Given the description of an element on the screen output the (x, y) to click on. 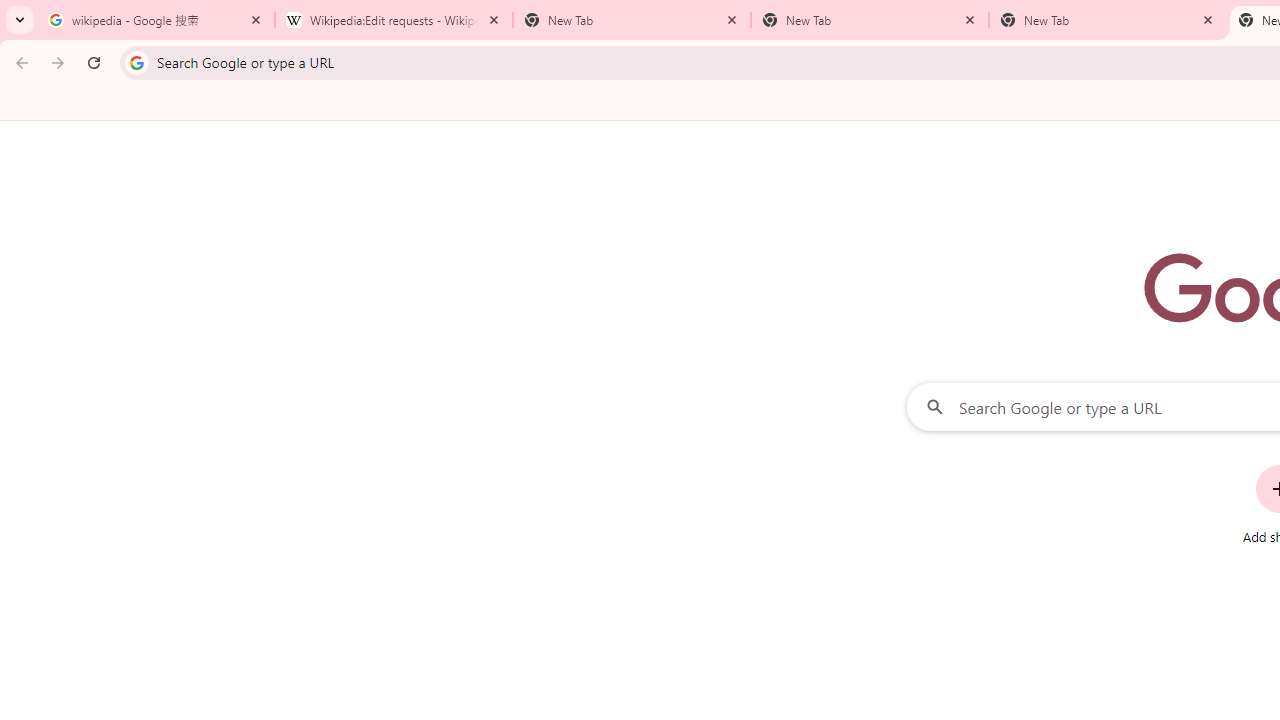
Wikipedia:Edit requests - Wikipedia (394, 20)
New Tab (632, 20)
New Tab (1108, 20)
New Tab (870, 20)
